Given the description of an element on the screen output the (x, y) to click on. 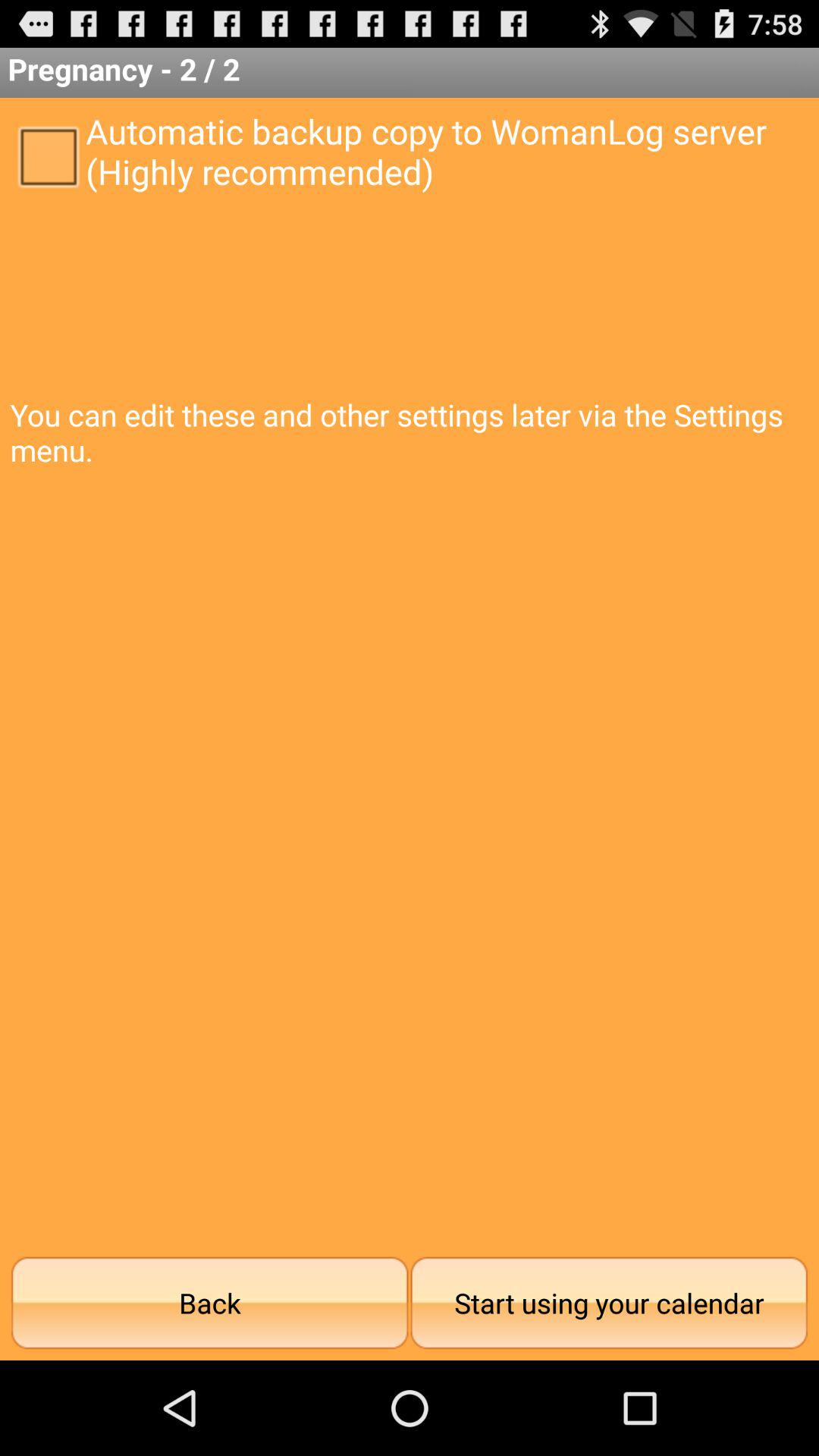
select item at the bottom left corner (209, 1302)
